Given the description of an element on the screen output the (x, y) to click on. 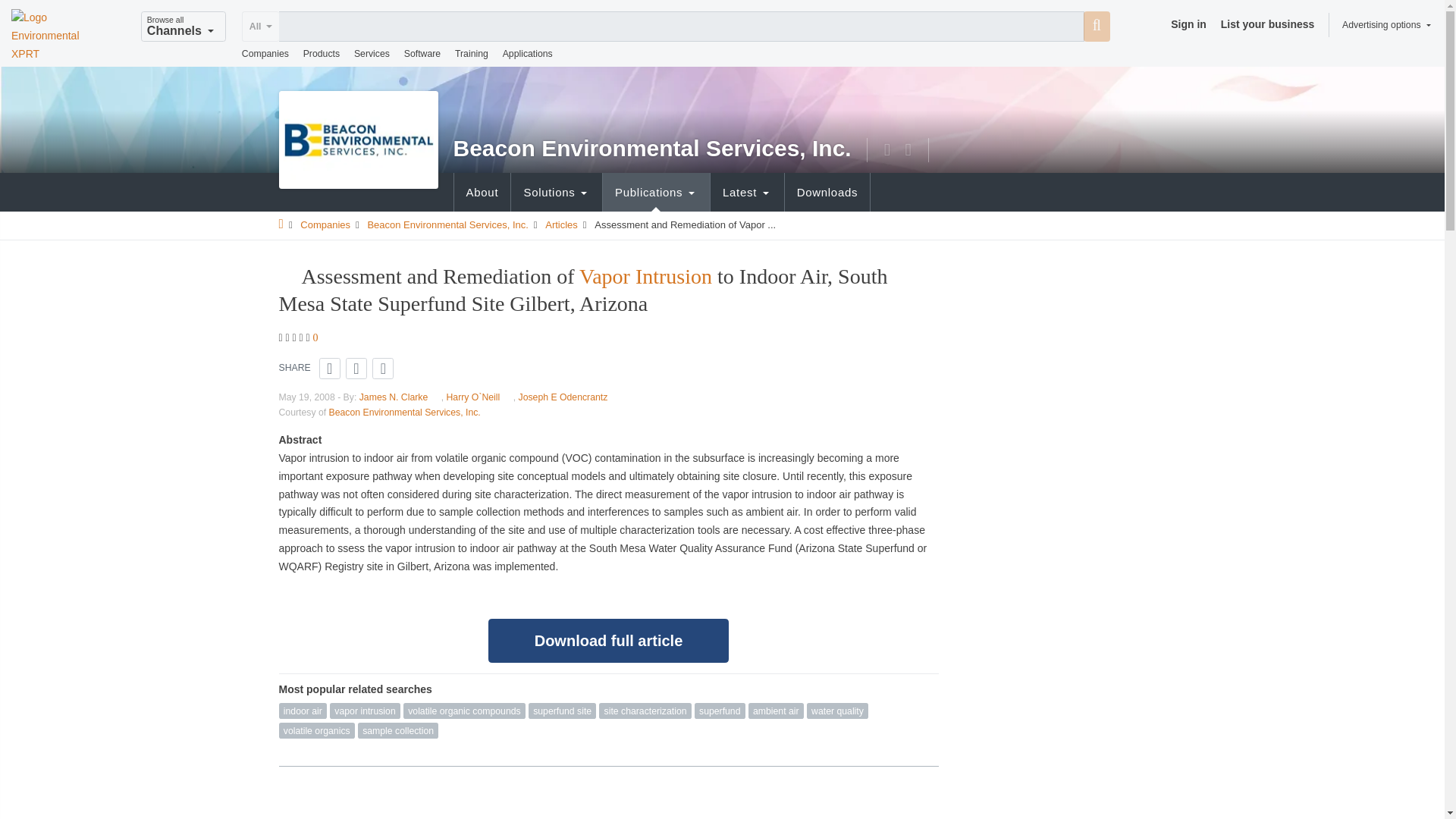
Beacon Environmental Services, Inc. (358, 139)
Logo Environmental XPRT (53, 36)
Beacon Environmental Services, Inc. Profile (446, 224)
Beacon Environmental Services, Inc. (358, 138)
Beacon Environmental Services, Inc. (651, 148)
